Given the description of an element on the screen output the (x, y) to click on. 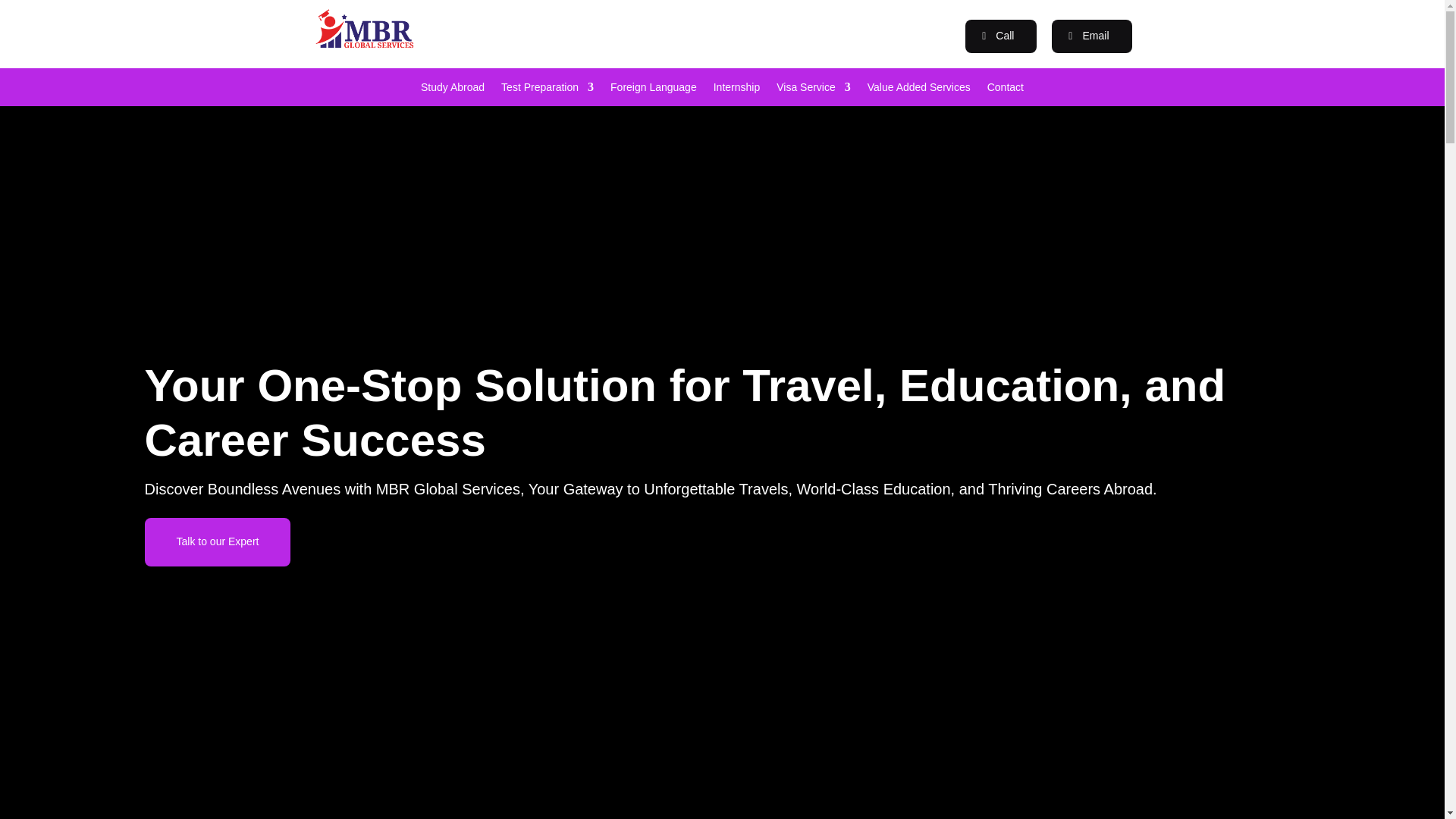
Visa Service (813, 89)
Email (1091, 36)
Value Added Services (919, 89)
Study Abroad (452, 89)
Test Preparation (547, 89)
mbr-global-service-overseas-education (363, 28)
Internship (736, 89)
Contact (1005, 89)
Call (1000, 36)
Foreign Language (653, 89)
